Given the description of an element on the screen output the (x, y) to click on. 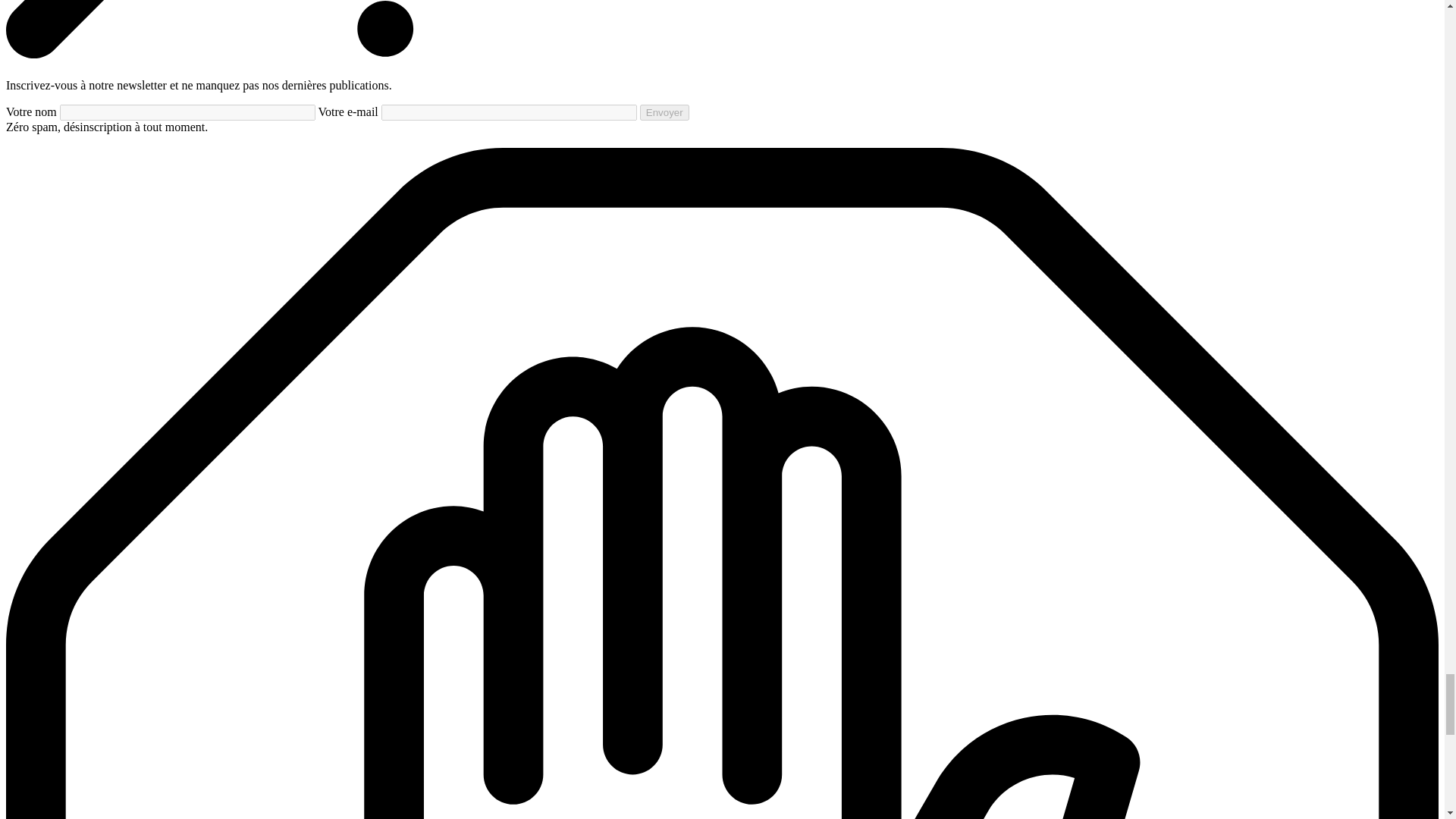
Envoyer (664, 112)
